Given the description of an element on the screen output the (x, y) to click on. 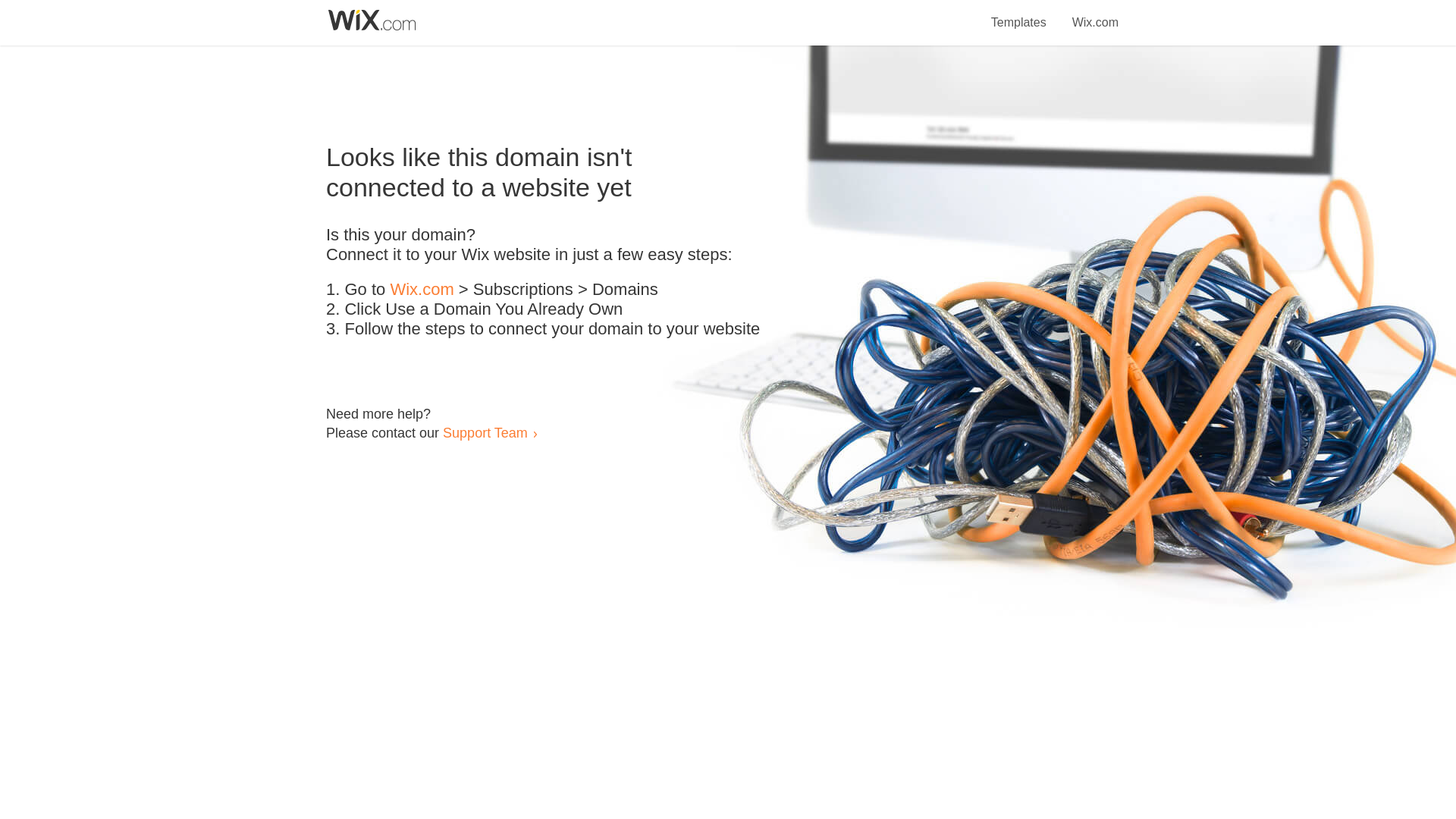
Templates (1018, 14)
Wix.com (421, 289)
Support Team (484, 432)
Wix.com (1095, 14)
